Given the description of an element on the screen output the (x, y) to click on. 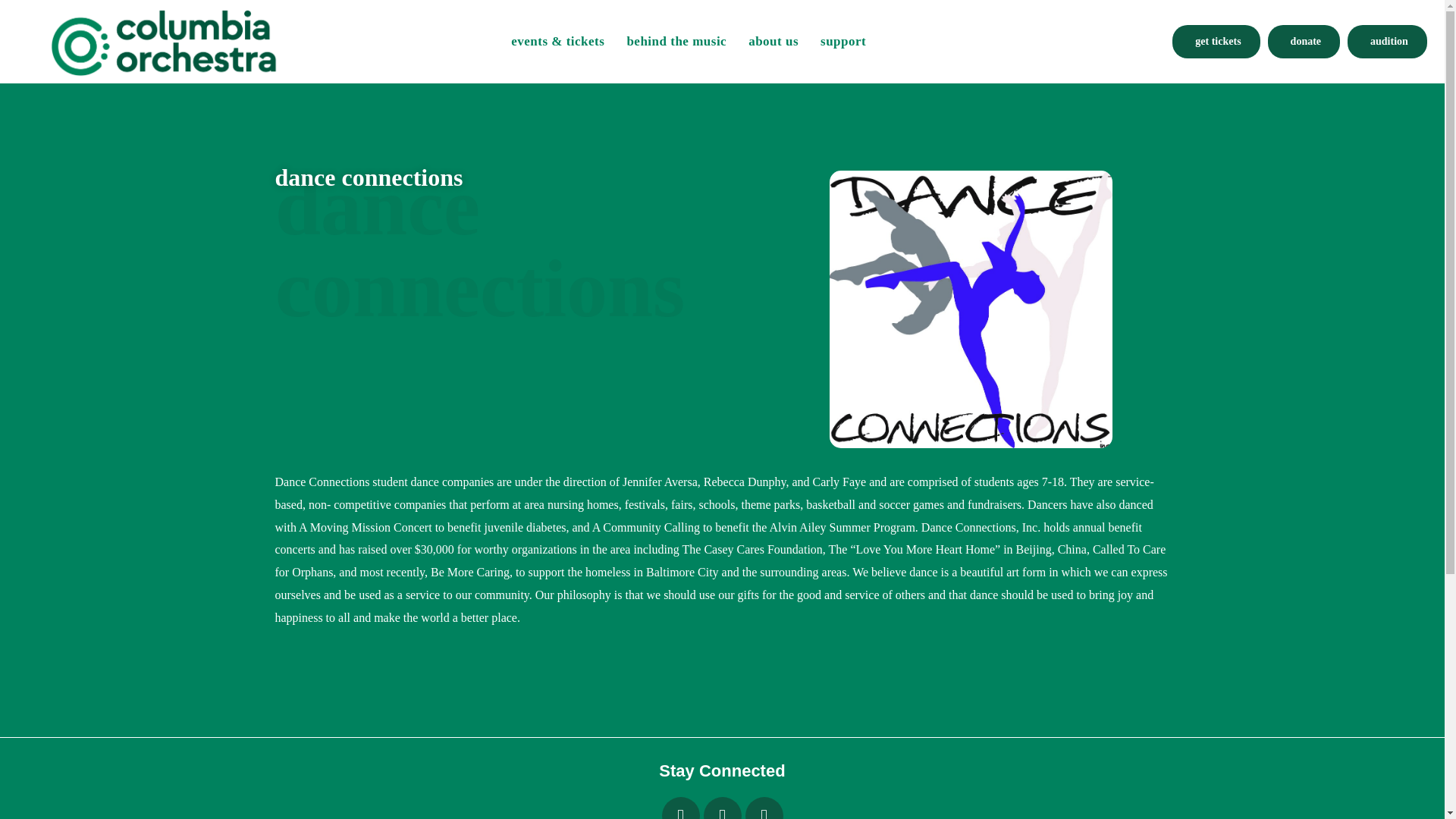
support (842, 41)
behind the music (675, 41)
about us (773, 41)
